Given the description of an element on the screen output the (x, y) to click on. 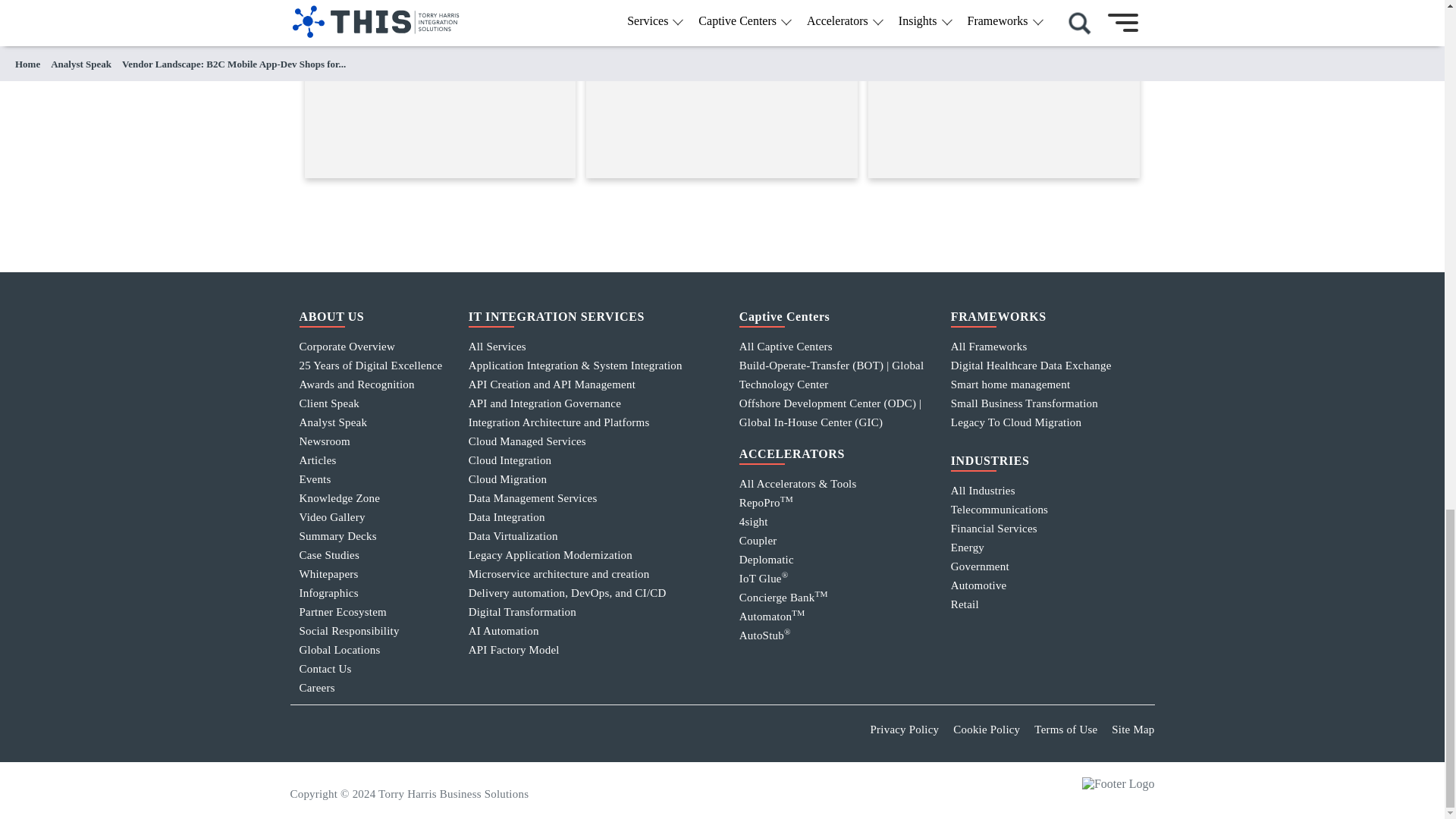
Facebook (406, 733)
Linkedin (302, 733)
XING (337, 733)
Twitter  (371, 733)
YouTube (439, 733)
Blog (610, 733)
Instagram (575, 733)
Dailymotion (508, 733)
Vimeo (474, 733)
Pinterest (542, 733)
